Given the description of an element on the screen output the (x, y) to click on. 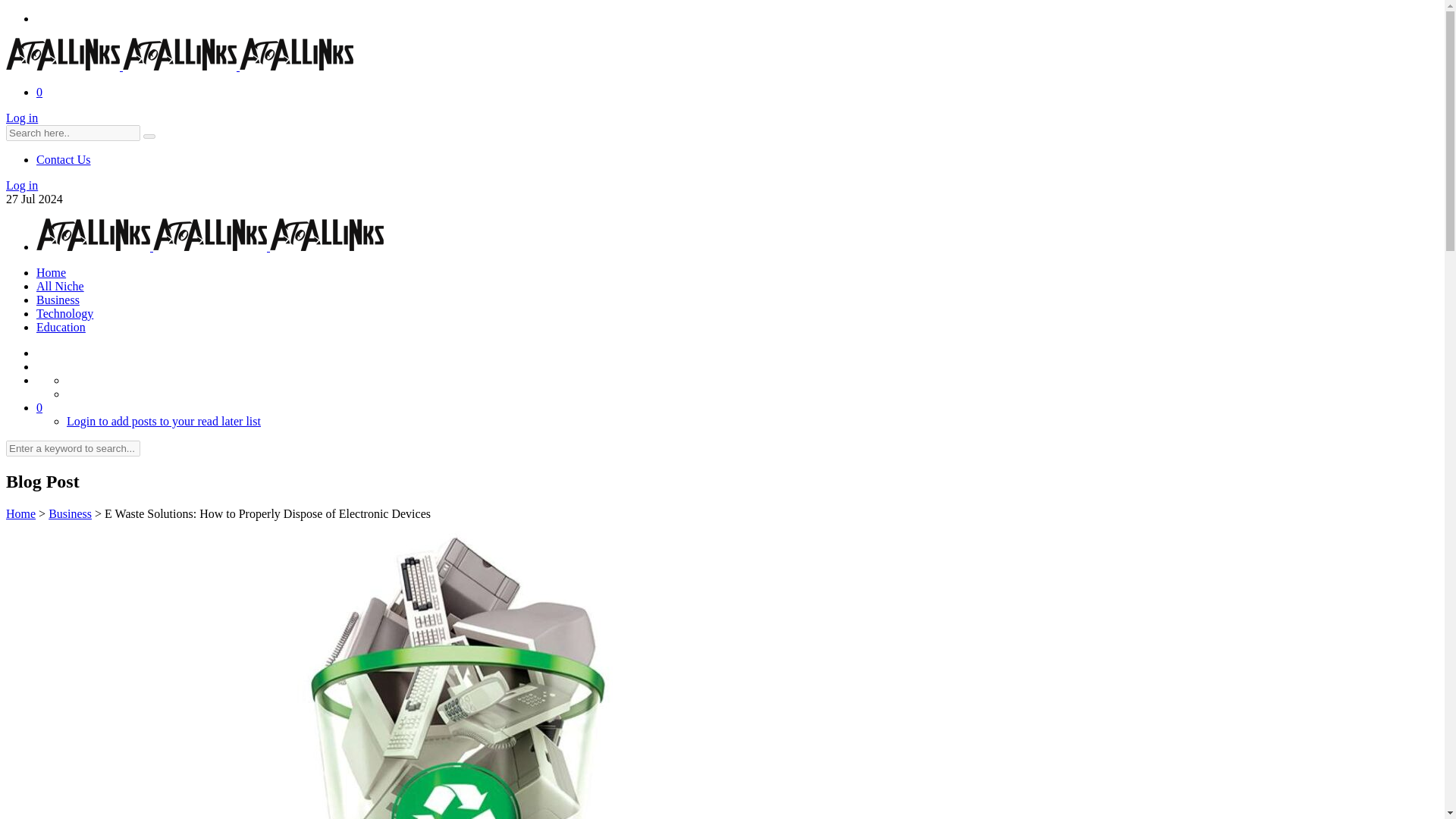
Home (50, 272)
Log in (21, 117)
Business (69, 513)
Technology (64, 313)
All Niche (60, 286)
Business (58, 299)
Home (19, 513)
Education (60, 327)
Log in (21, 185)
Login to add posts to your read later list (163, 420)
Contact Us (63, 159)
Home (19, 513)
